Given the description of an element on the screen output the (x, y) to click on. 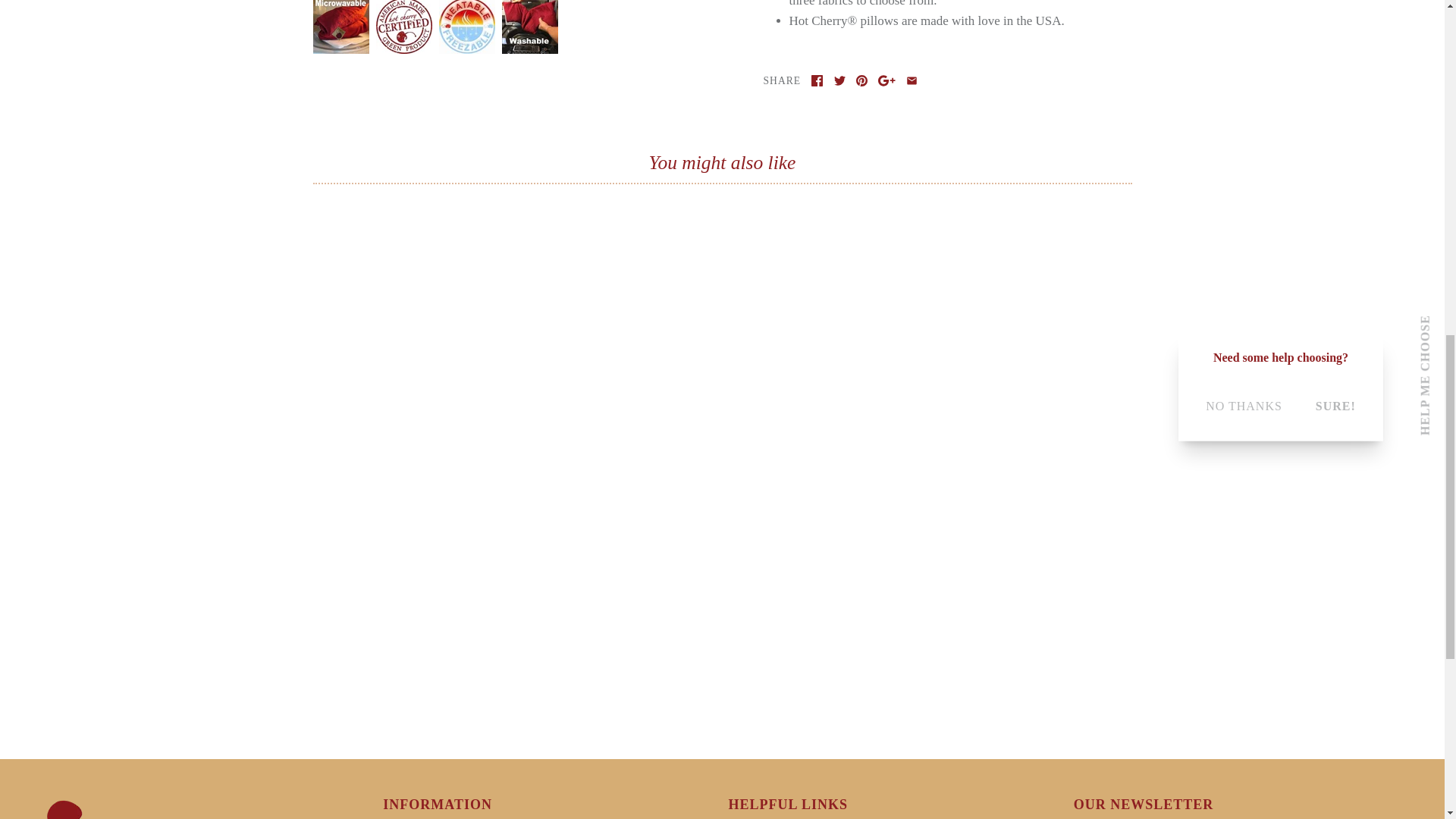
GooglePlus (886, 80)
Pin the main image (861, 80)
Share on Facebook (816, 80)
Hot Cherry Triple Square Pillow in Blue Denim (527, 7)
Email (911, 80)
Hot Cherry Triple Square Pillow in Blue Denim (403, 7)
Share on Twitter (839, 80)
Pinterest (861, 80)
Twitter (839, 80)
Twitter (839, 80)
Hot Cherry Triple Square Pillow in Blue Denim (466, 7)
Facebook (816, 80)
Facebook (816, 80)
Hot Cherry Triple Square Pillow in Blue Denim (340, 7)
